Given the description of an element on the screen output the (x, y) to click on. 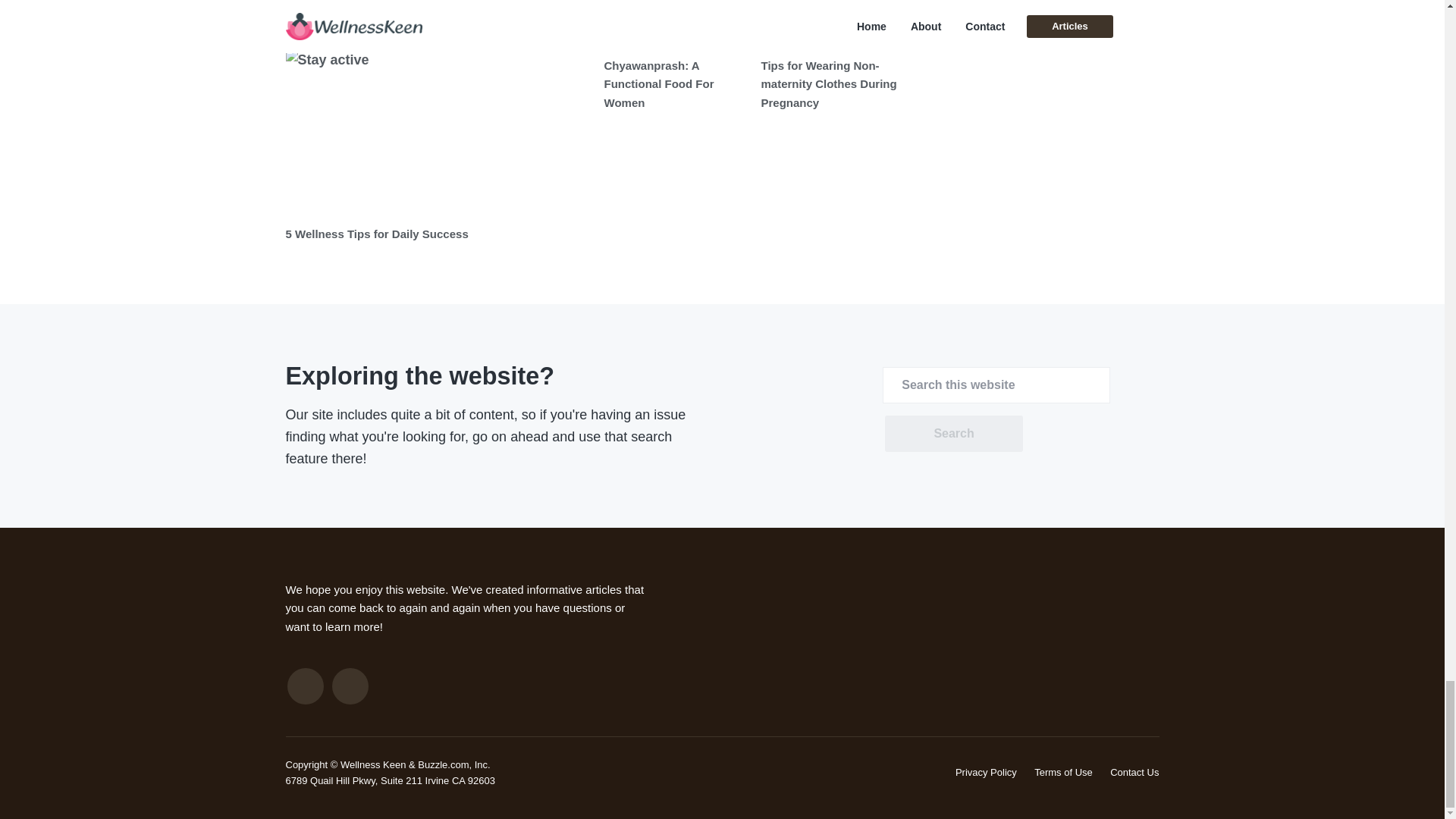
Permanent Link to Chyawanprash: A Functional Food For Women (658, 83)
Permanent Link to 5 Wellness Tips for Daily Success (376, 233)
Search (953, 433)
Search (953, 433)
Search (953, 433)
Permanent Link to 5 Wellness Tips for Daily Success (436, 133)
Tips for Wearing Non-maternity Clothes During Pregnancy (828, 83)
5 Wellness Tips for Daily Success (376, 233)
Chyawanprash: A Functional Food For Women (658, 83)
